Given the description of an element on the screen output the (x, y) to click on. 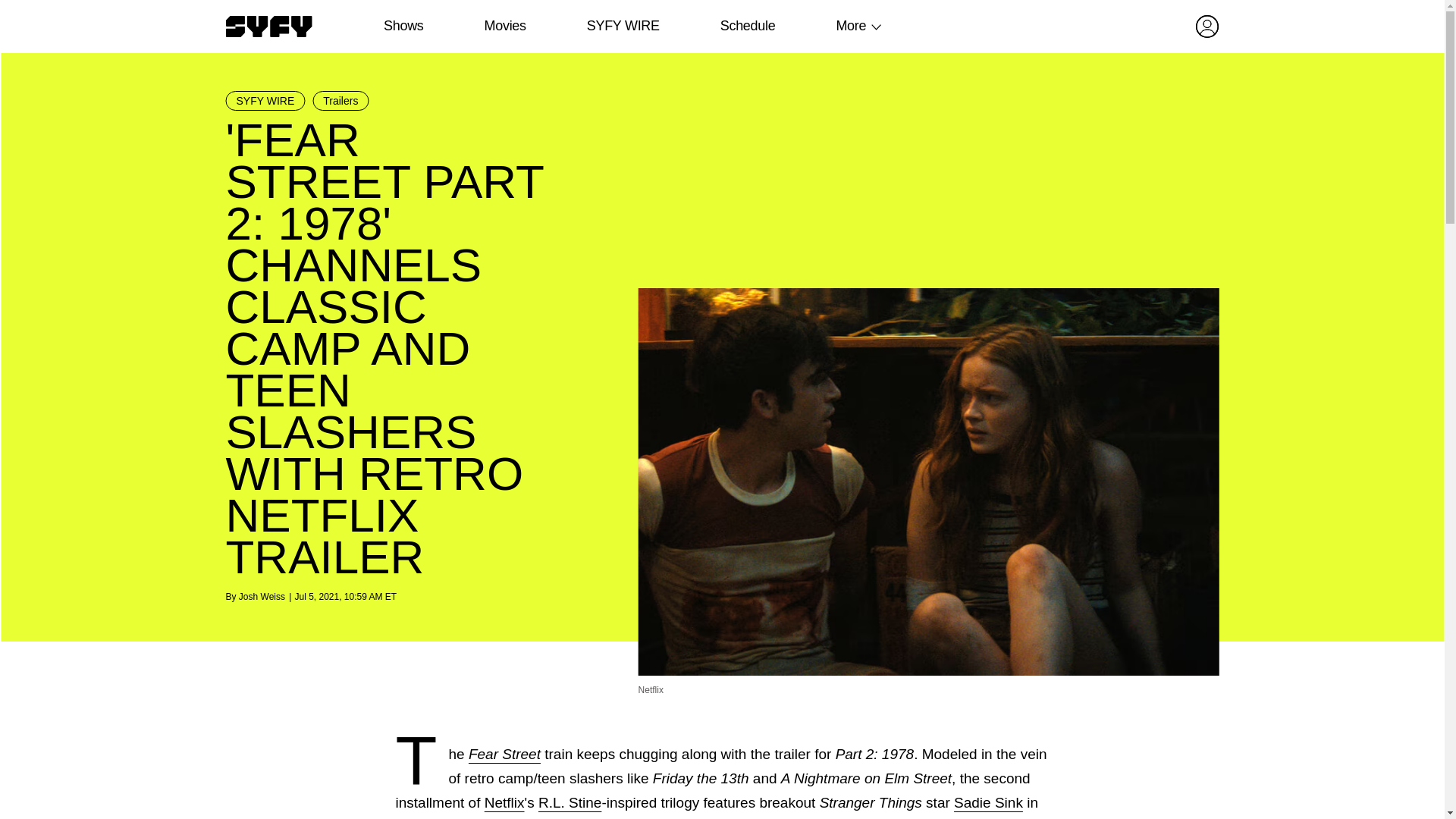
Shows (403, 26)
Fear Street (504, 754)
Movies (504, 26)
Netflix (504, 802)
SYFY WIRE (265, 100)
More (850, 26)
Sadie Sink (988, 802)
Josh Weiss (261, 596)
R.L. Stine (569, 802)
